Given the description of an element on the screen output the (x, y) to click on. 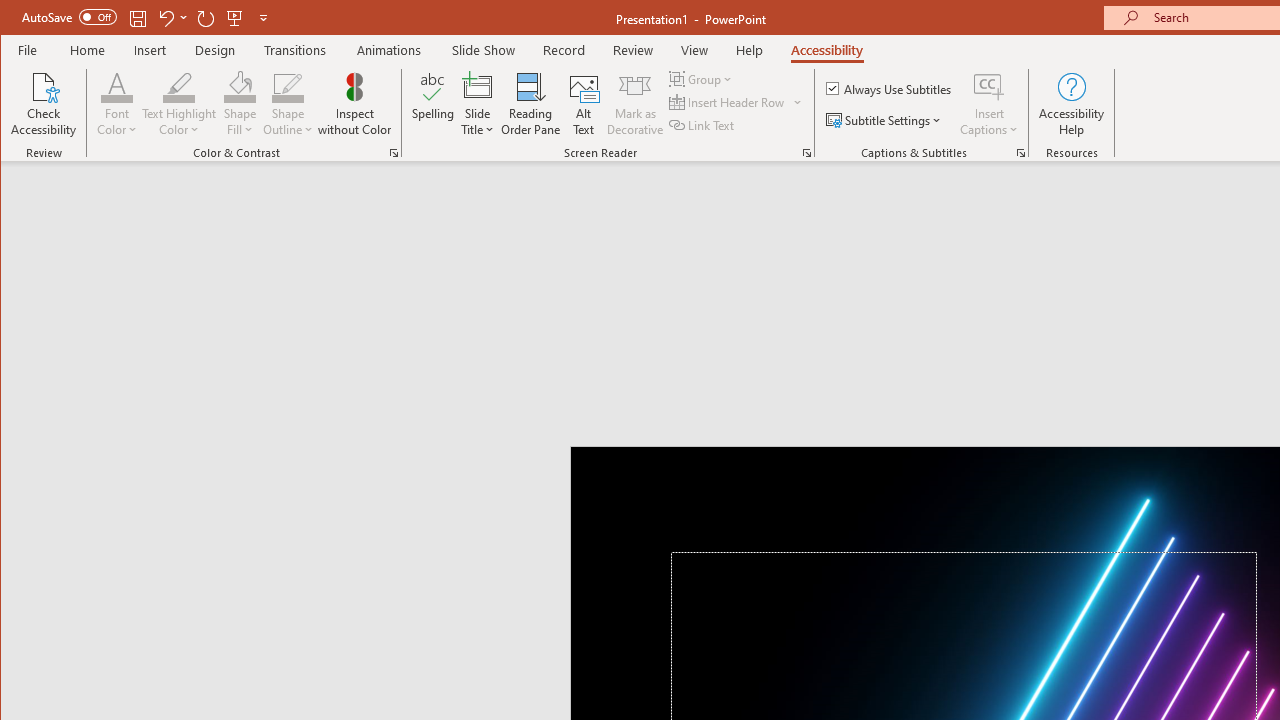
Mark as Decorative (635, 104)
Subtitle Settings (885, 119)
Screen Reader (806, 152)
